Given the description of an element on the screen output the (x, y) to click on. 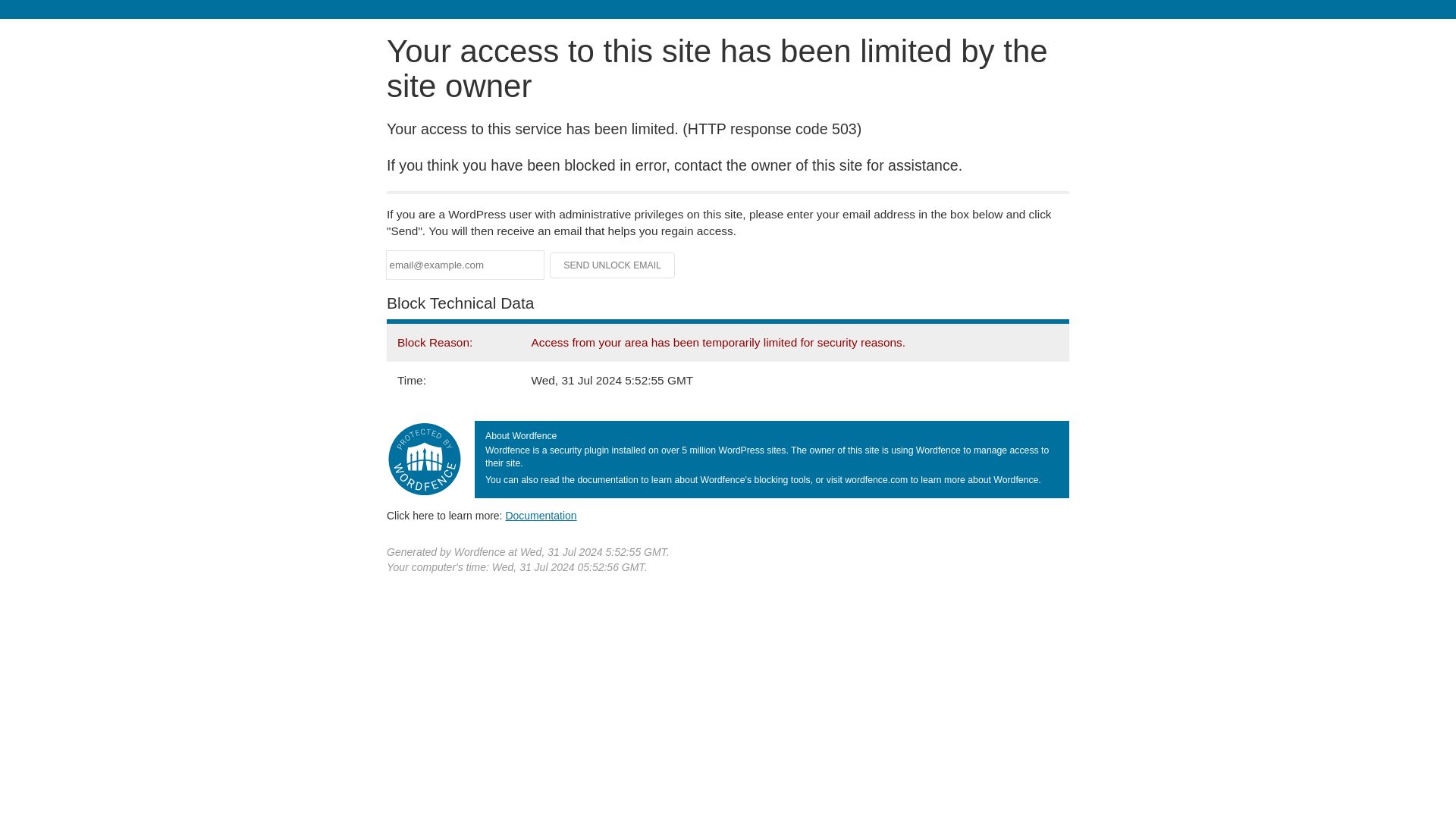
Send Unlock Email (612, 265)
Send Unlock Email (612, 265)
Documentation (540, 515)
